Given the description of an element on the screen output the (x, y) to click on. 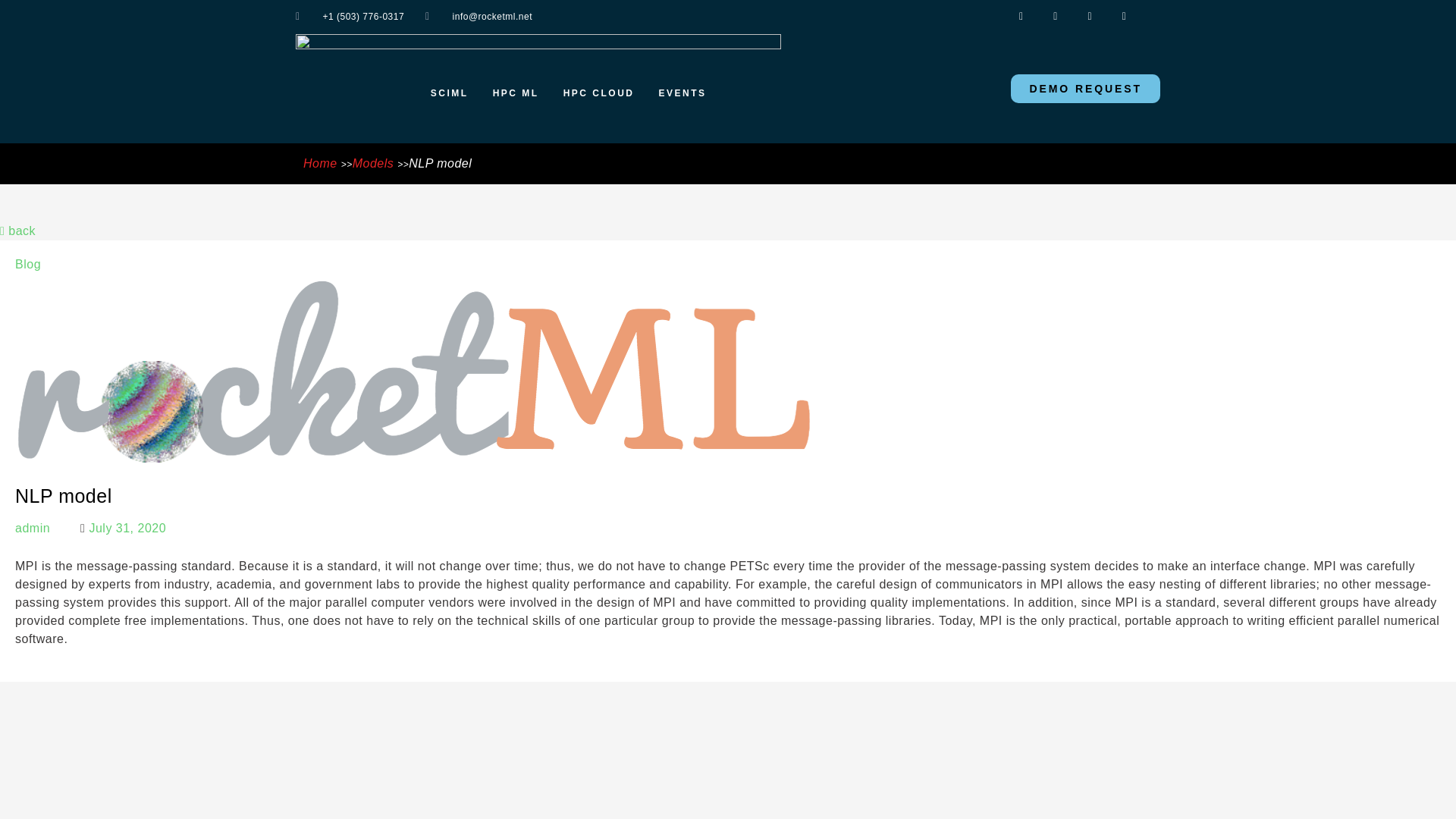
HPC ML (515, 92)
SCIML (449, 92)
July 31, 2020 (126, 527)
DEMO REQUEST (1085, 88)
EVENTS (682, 92)
back (17, 230)
admin (31, 527)
Models (373, 163)
HPC CLOUD (598, 92)
Home (319, 163)
